Given the description of an element on the screen output the (x, y) to click on. 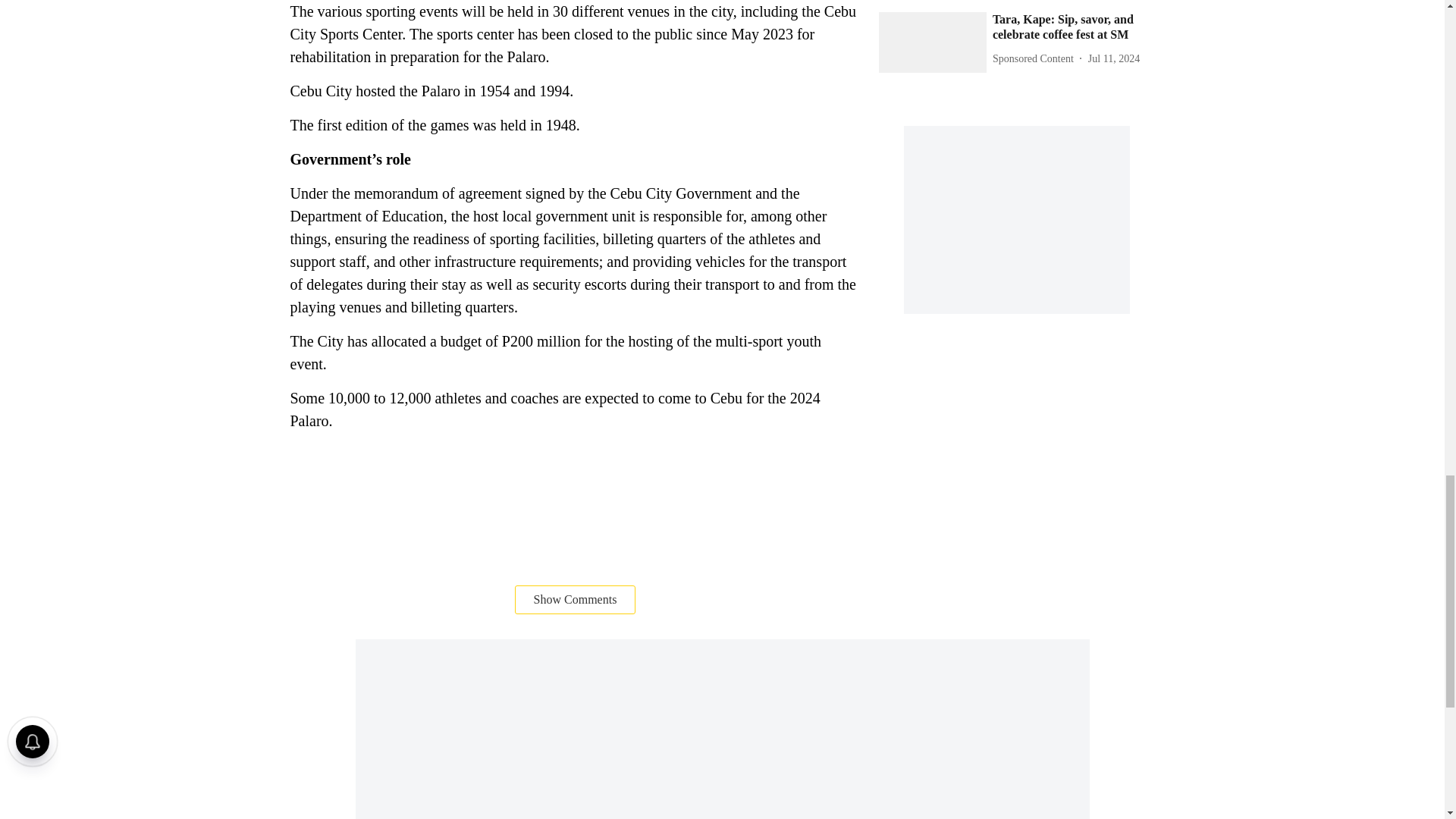
Show Comments (575, 599)
2024-07-11 00:59 (1113, 58)
